Given the description of an element on the screen output the (x, y) to click on. 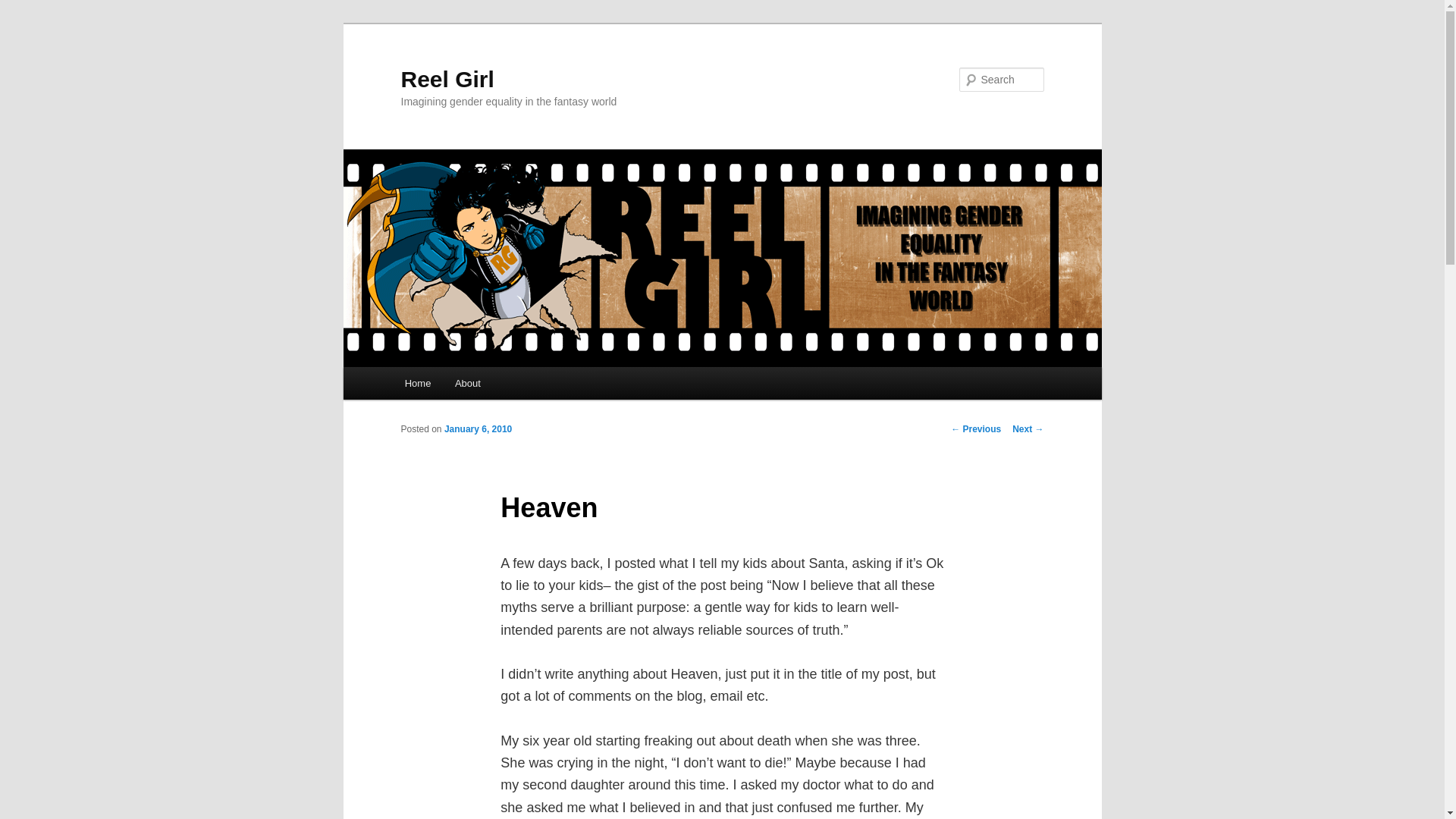
Home (417, 382)
6:46 pm (478, 429)
Reel Girl (446, 78)
About (467, 382)
Search (24, 8)
January 6, 2010 (478, 429)
